Given the description of an element on the screen output the (x, y) to click on. 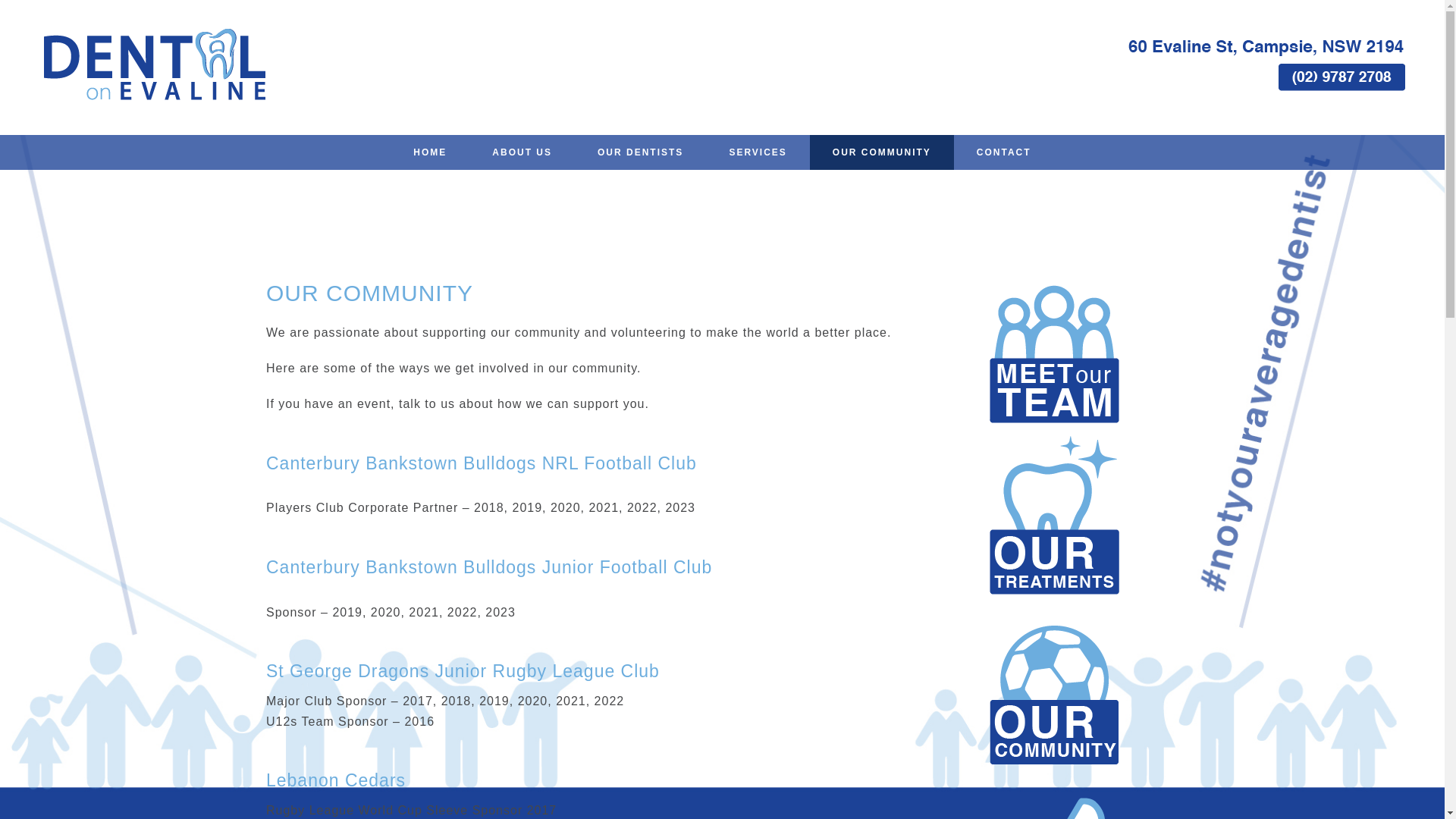
CONTACT Element type: text (1003, 151)
OUR COMMUNITY Element type: text (881, 151)
OUR DENTISTS Element type: text (640, 151)
SERVICES Element type: text (757, 151)
HOME Element type: text (429, 151)
ABOUT US Element type: text (521, 151)
